Given the description of an element on the screen output the (x, y) to click on. 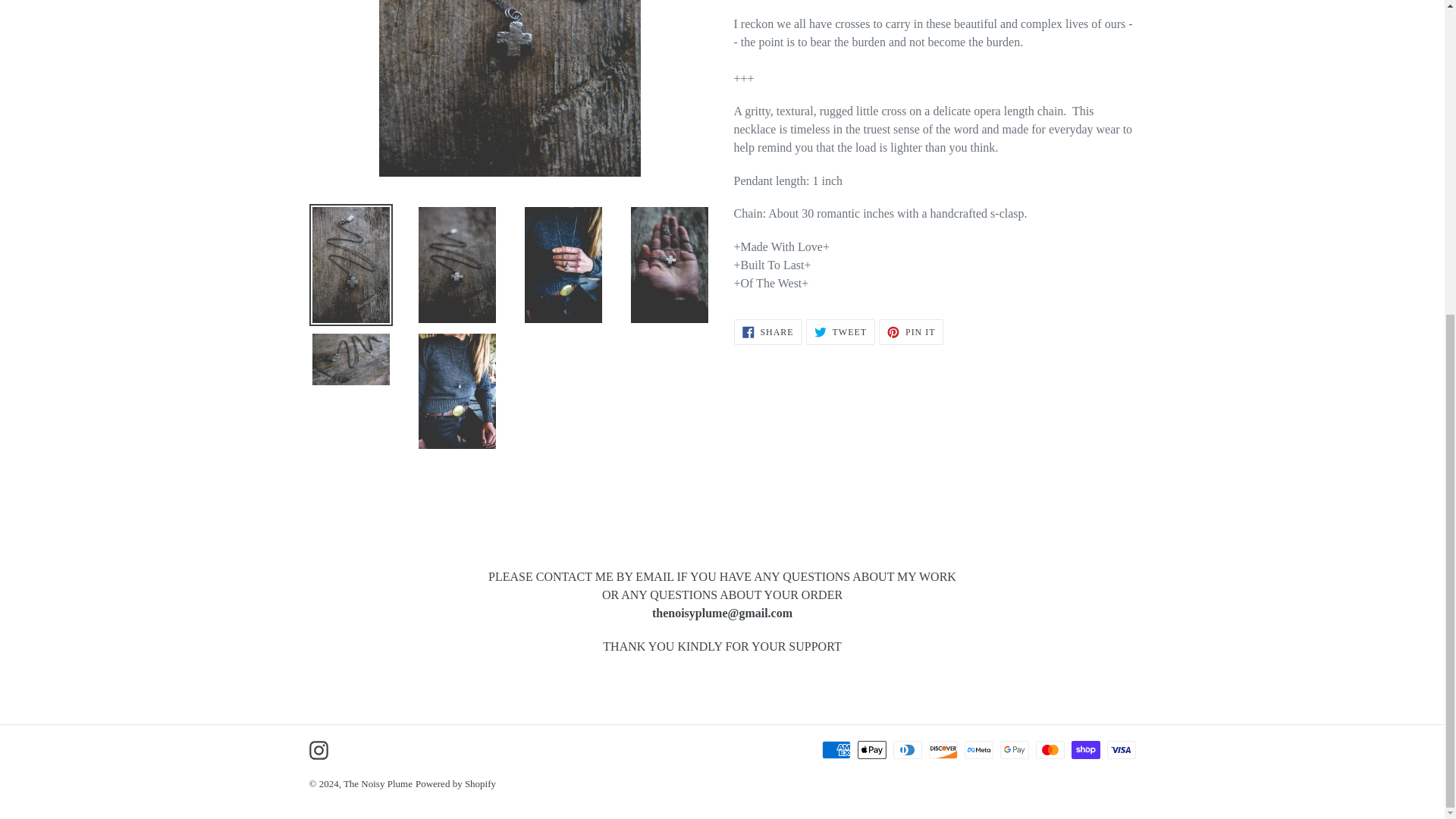
Instagram (911, 331)
Powered by Shopify (318, 750)
The Noisy Plume (767, 331)
